Given the description of an element on the screen output the (x, y) to click on. 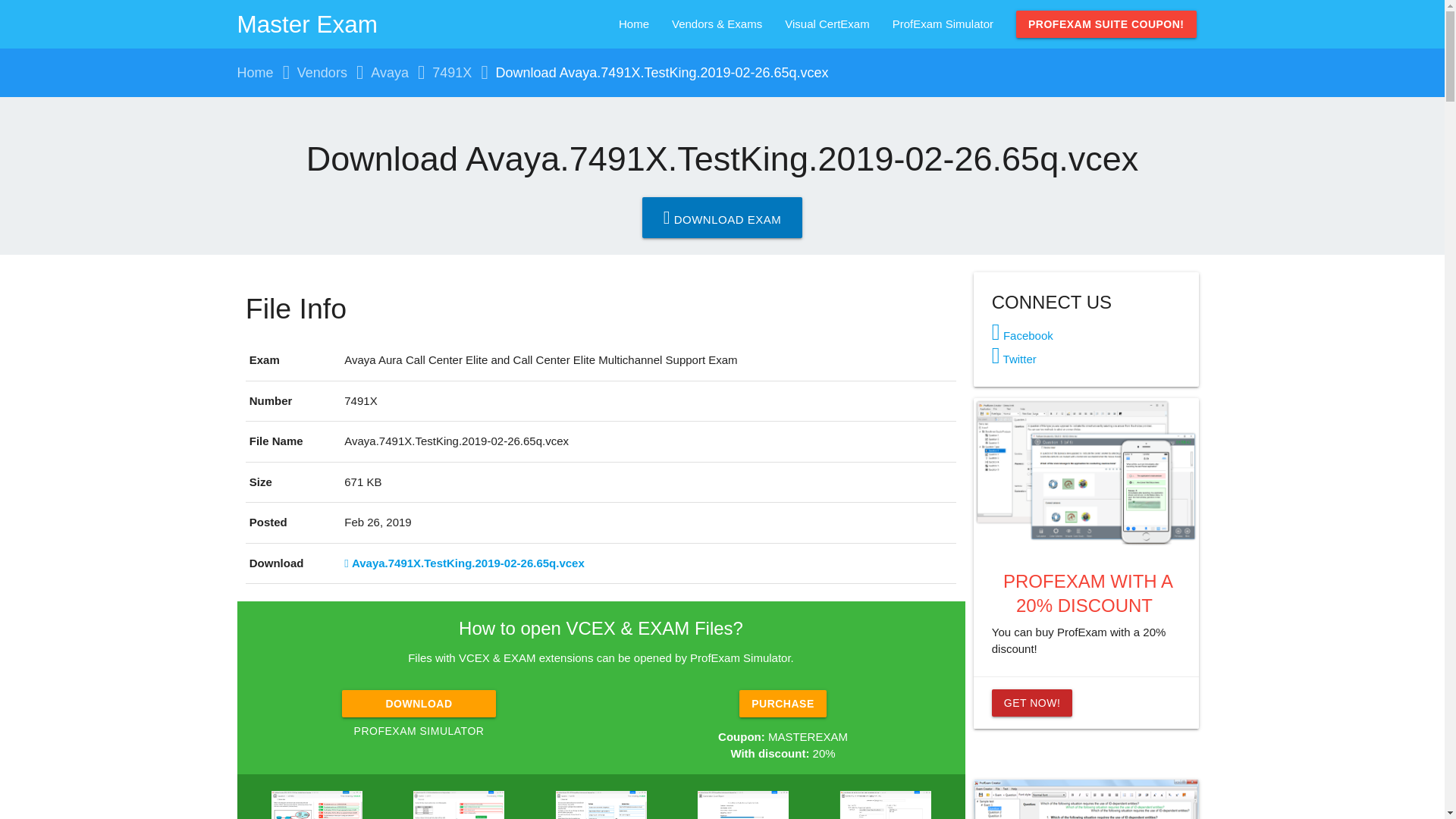
Avaya (379, 72)
DOWNLOAD EXAM (722, 217)
7491X (441, 72)
PURCHASE (783, 703)
Avaya.7491X.TestKing.2019-02-26.65q.vcex (464, 562)
PROFEXAM SUITE COUPON! (419, 703)
Home (1105, 23)
Facebook (634, 24)
Download Avaya.7491X.TestKing.2019-02-26.65q.vcex (1021, 335)
Twitter (651, 72)
ProfExam Simulator (1013, 358)
GET NOW! (942, 24)
Visual CertExam (1032, 702)
Vendors (826, 24)
